Given the description of an element on the screen output the (x, y) to click on. 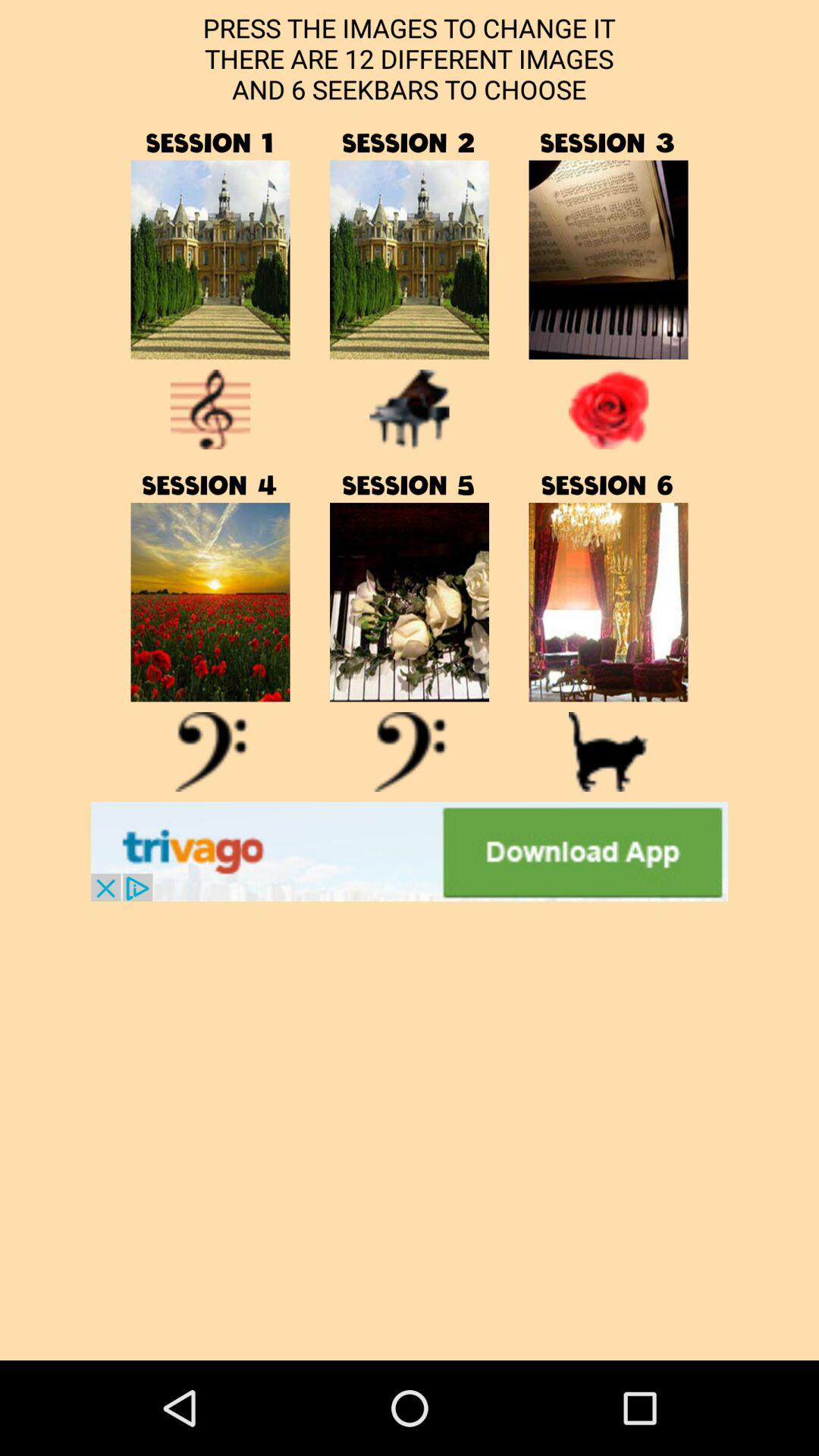
click on image under session 5 (409, 601)
click on the second image from the top (409, 259)
click on the icon which is left to cat icon (409, 751)
